Given the description of an element on the screen output the (x, y) to click on. 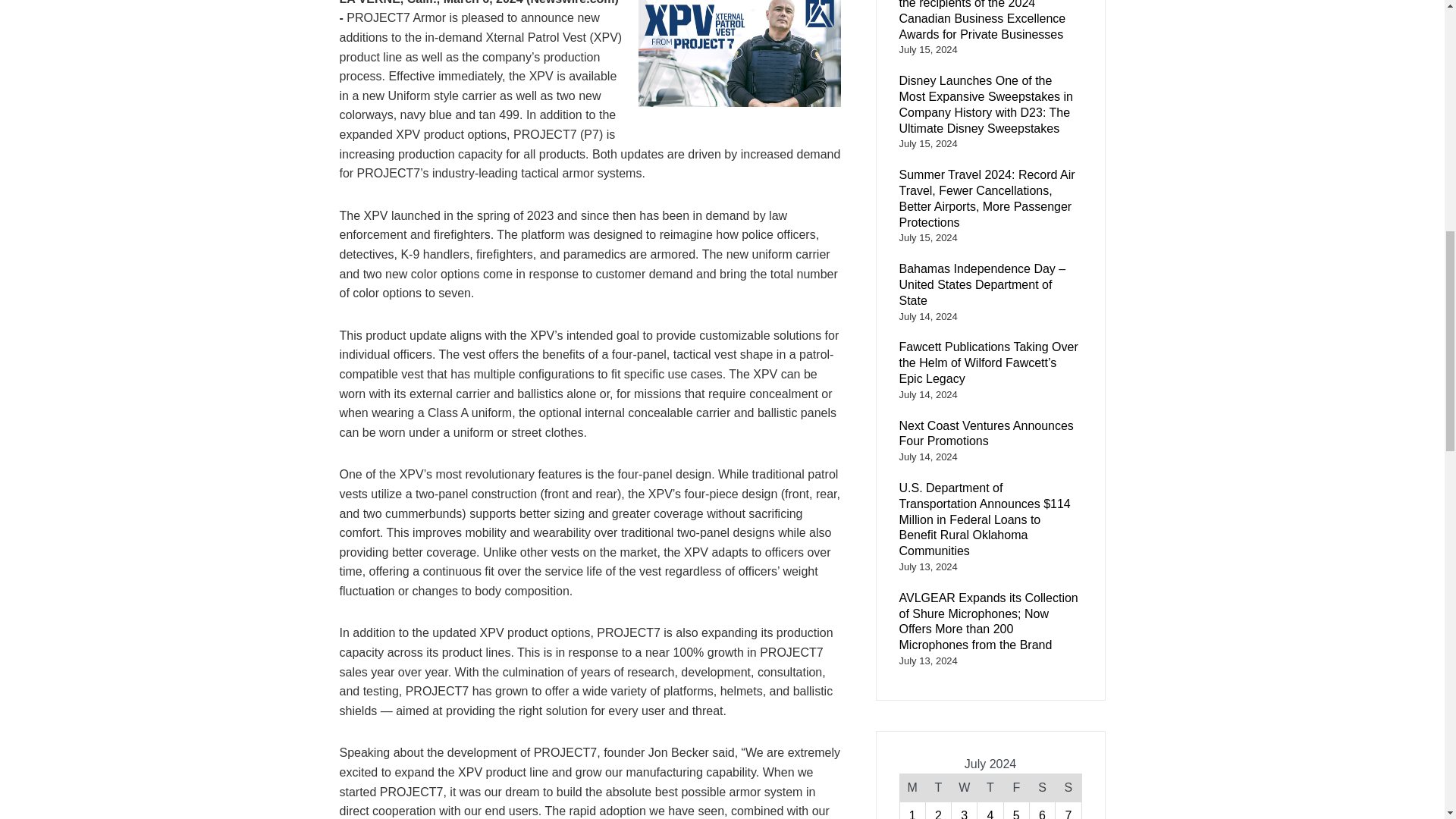
Monday (911, 787)
Sunday (1068, 787)
Friday (1016, 787)
Tuesday (937, 787)
Wednesday (964, 787)
Thursday (989, 787)
Saturday (1041, 787)
